Given the description of an element on the screen output the (x, y) to click on. 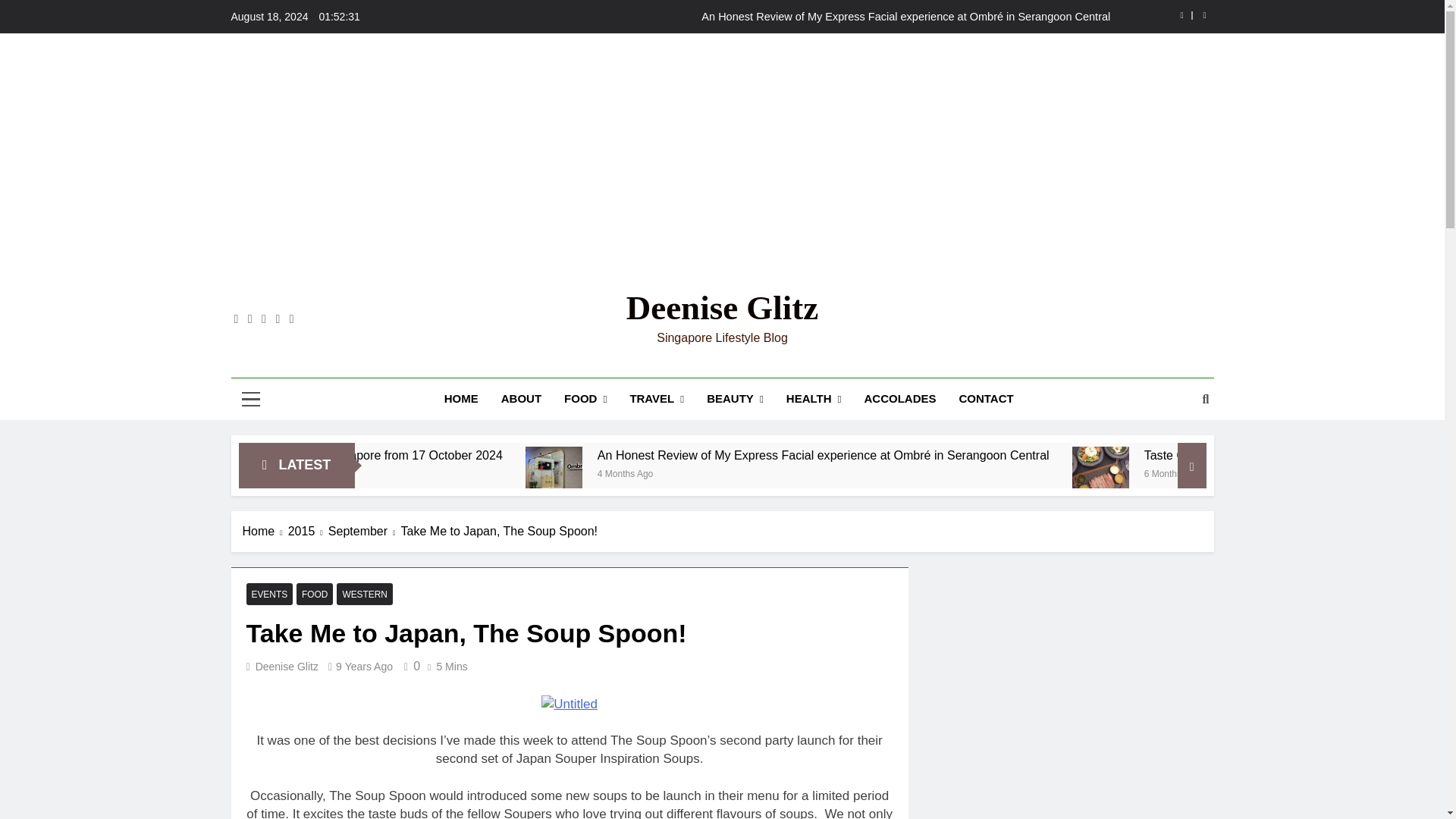
ABOUT (521, 398)
FOOD (585, 399)
Deenise Glitz (722, 307)
HOME (460, 398)
